Given the description of an element on the screen output the (x, y) to click on. 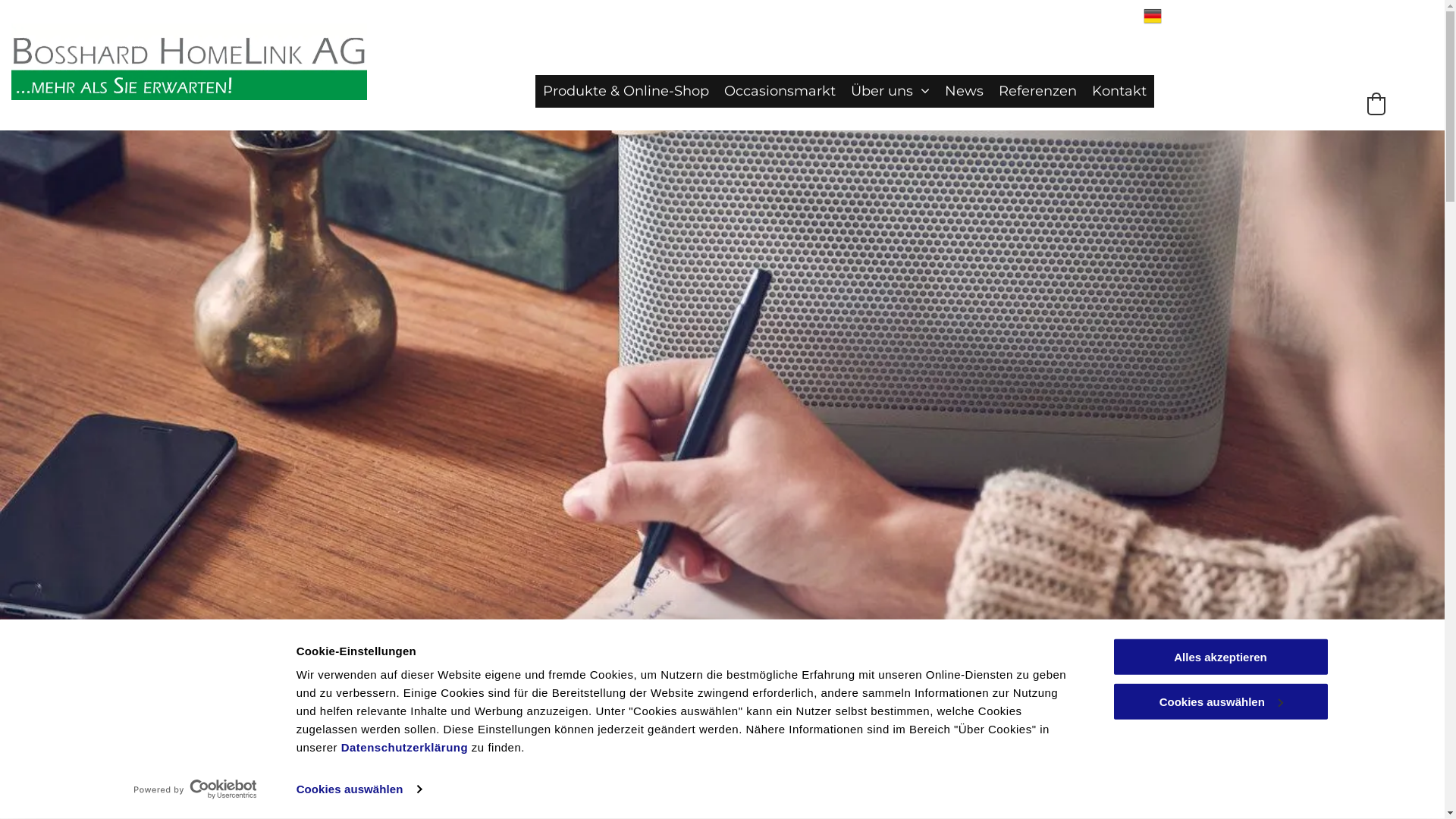
Referenzen Element type: text (1037, 91)
Alles akzeptieren Element type: text (1219, 656)
News Element type: text (964, 91)
Produkte & Online-Shop Element type: text (625, 91)
Occasionsmarkt Element type: text (779, 91)
Kontakt Element type: text (1119, 91)
